Given the description of an element on the screen output the (x, y) to click on. 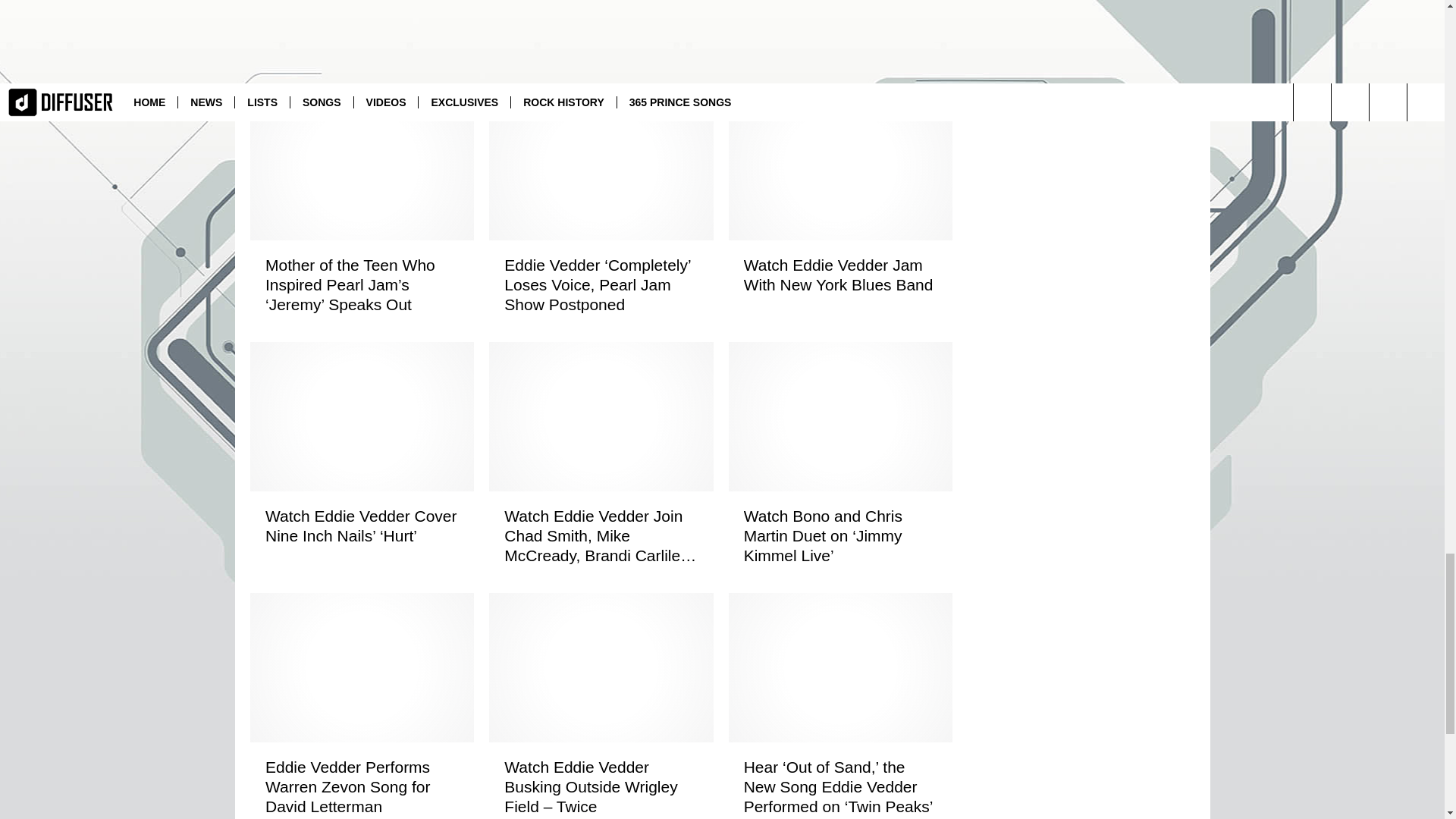
News (446, 1)
Concerts (406, 1)
Videos (482, 1)
